Given the description of an element on the screen output the (x, y) to click on. 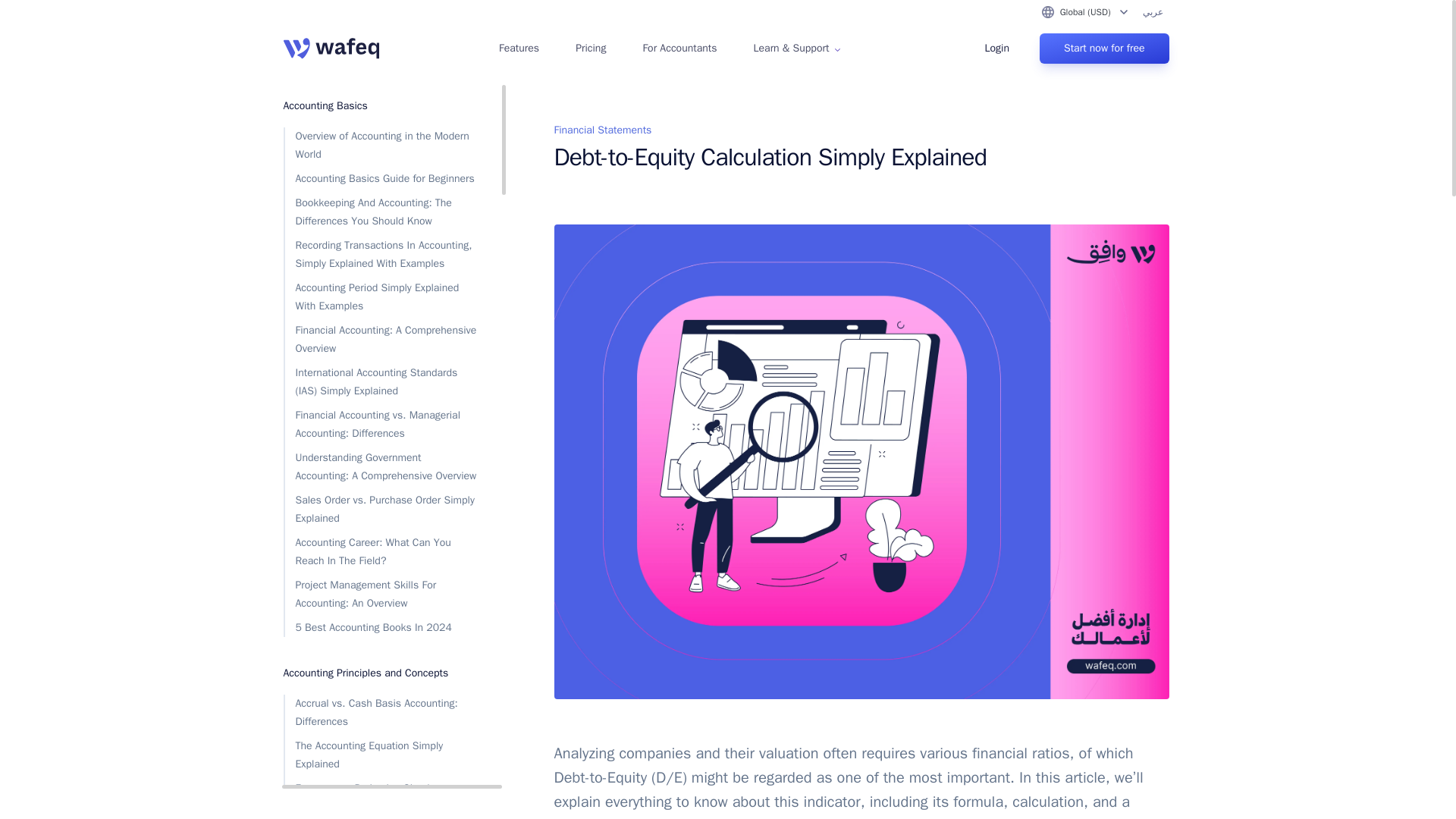
Overview of Accounting in the Modern World (381, 145)
For Accountants (679, 48)
5 Best Accounting Books In 2024 (381, 628)
Project Management Skills For Accounting: An Overview (381, 594)
Accounting Basics Guide for Beginners (381, 178)
Financial Accounting vs. Managerial Accounting: Differences (381, 424)
Accounting Period Simply Explained With Examples (381, 297)
Sales Order vs. Purchase Order Simply Explained (381, 509)
Features (518, 48)
